Given the description of an element on the screen output the (x, y) to click on. 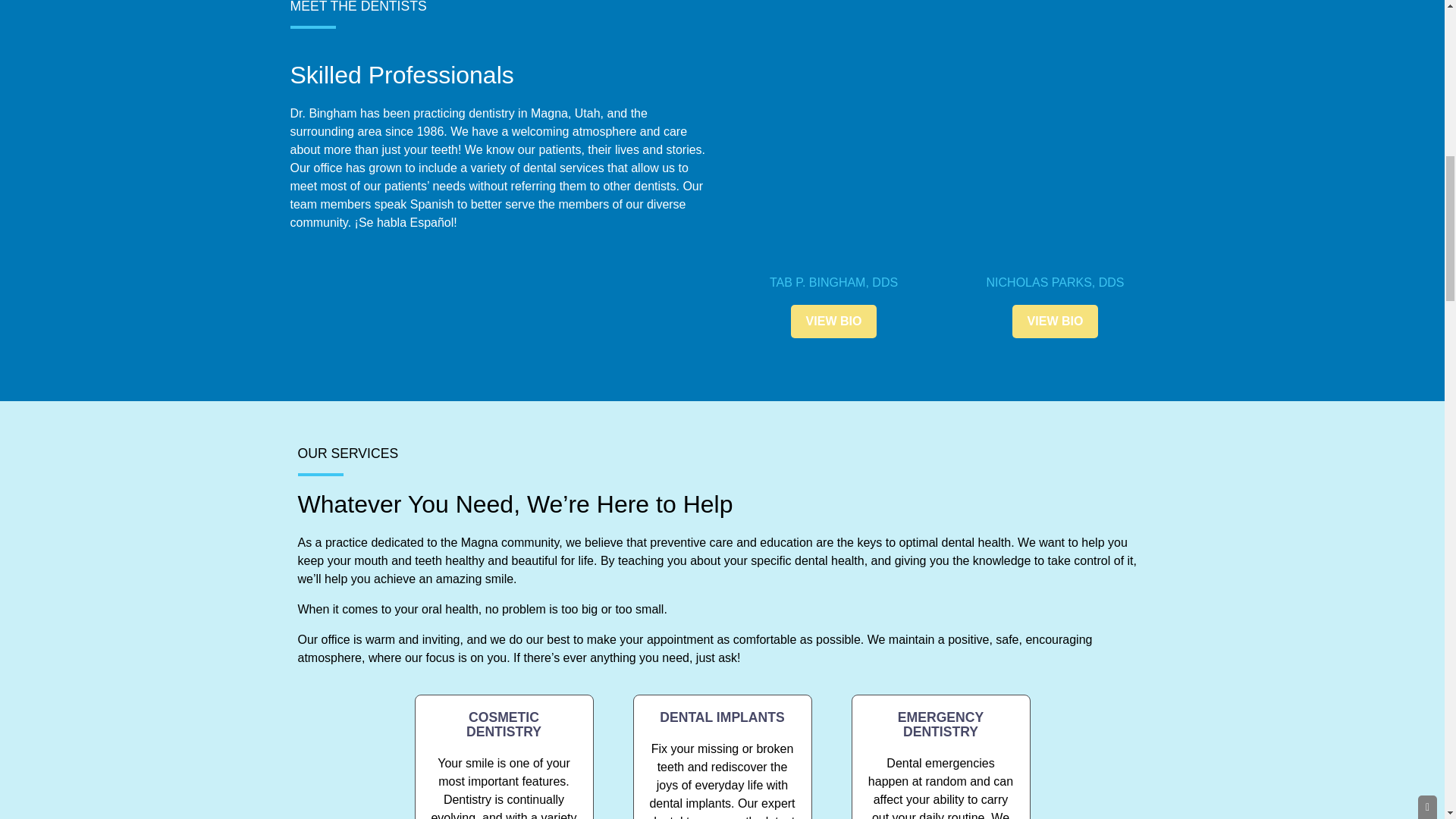
TAB P. BINGHAM, DDS (834, 282)
VIEW BIO (833, 321)
NICHOLAS PARKS, DDS (1055, 282)
VIEW BIO (1055, 321)
